Given the description of an element on the screen output the (x, y) to click on. 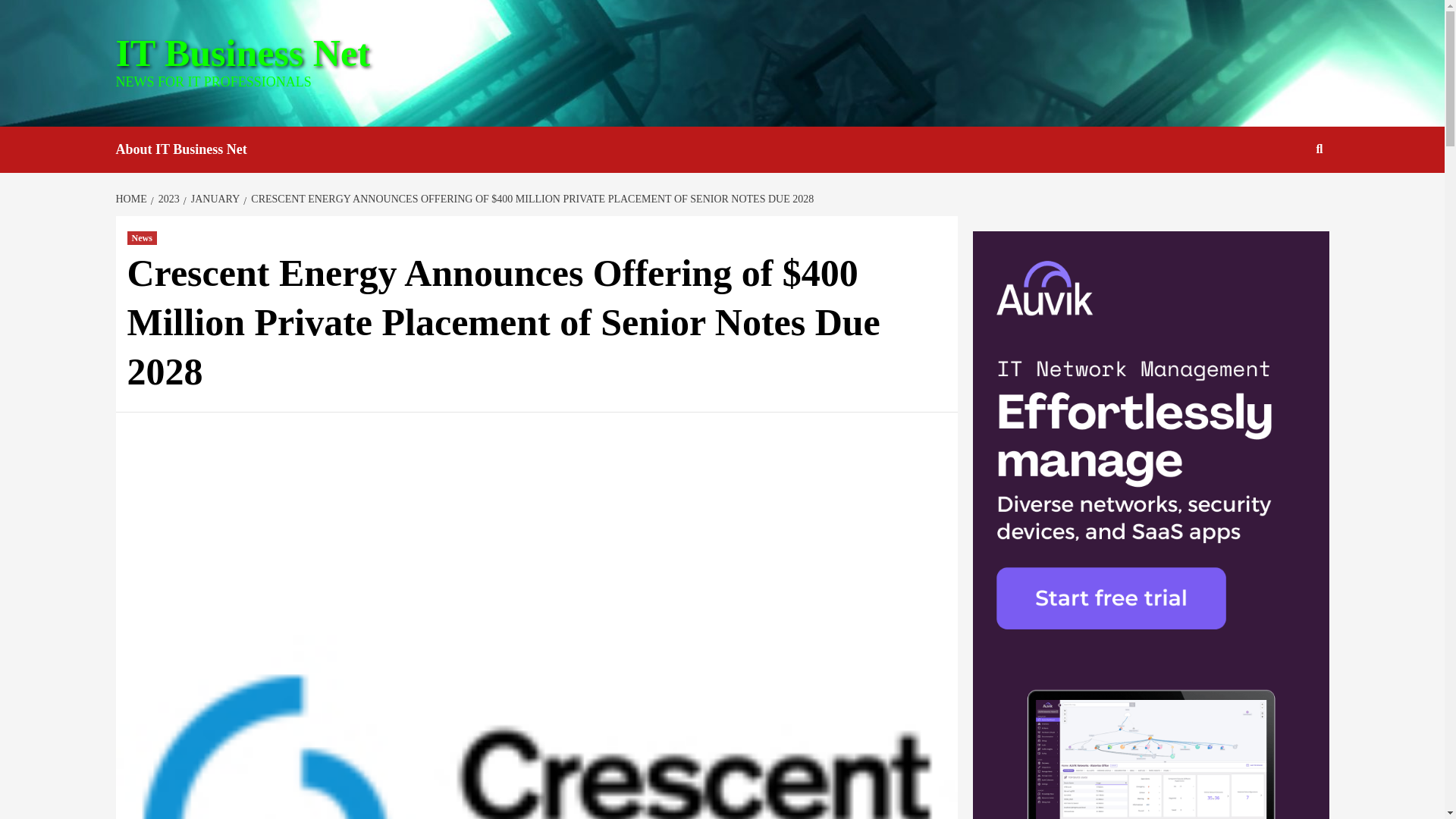
HOME (132, 198)
JANUARY (213, 198)
Search (1319, 149)
2023 (167, 198)
IT Business Net (242, 52)
News (142, 237)
Search (1283, 197)
About IT Business Net (192, 149)
